Given the description of an element on the screen output the (x, y) to click on. 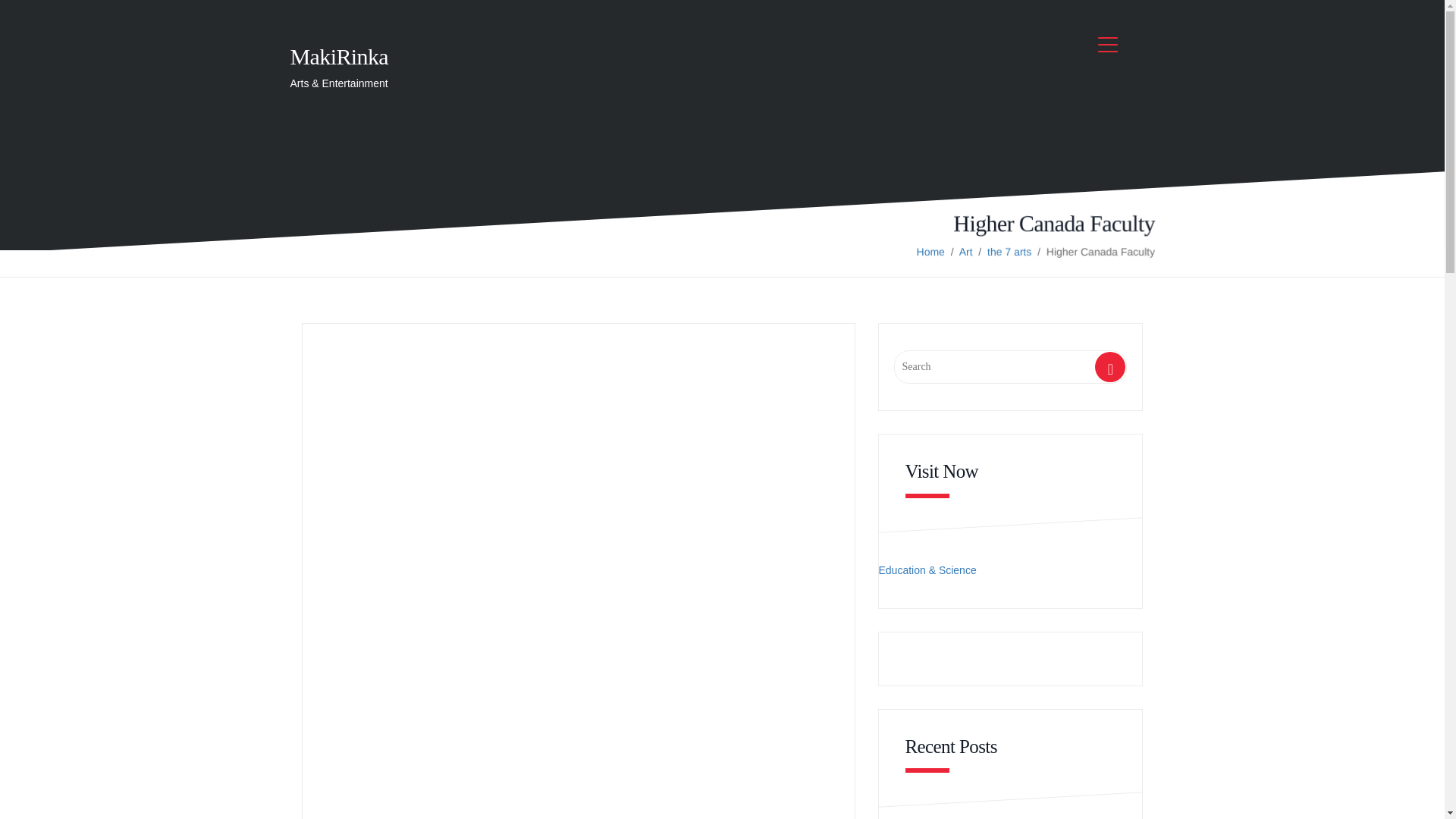
MakiRinka (338, 56)
Art (965, 251)
the 7 arts (1008, 251)
MakiRinka (338, 56)
Home (929, 251)
